Given the description of an element on the screen output the (x, y) to click on. 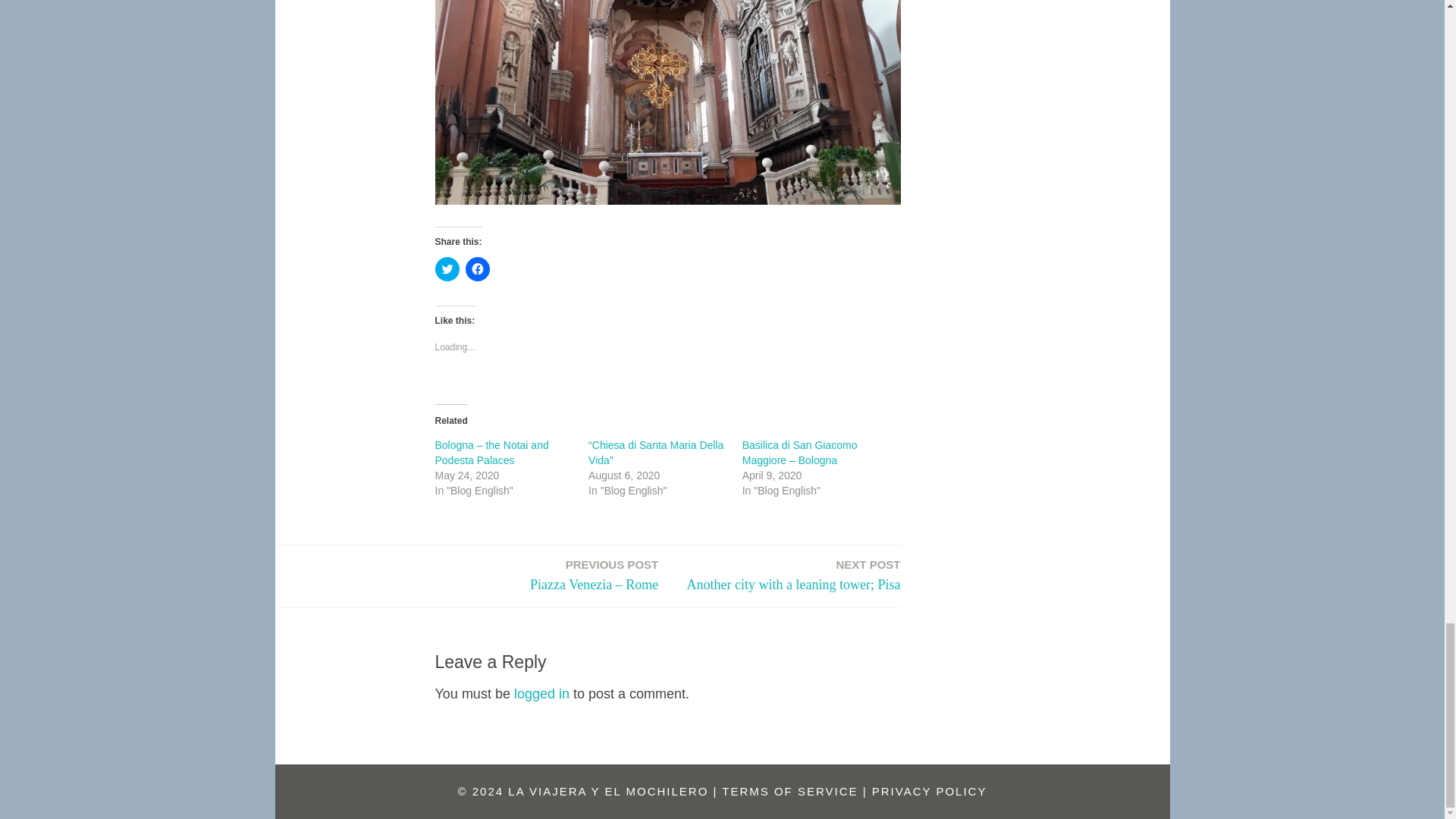
Click to share on Twitter (447, 269)
Click to share on Facebook (477, 269)
